Given the description of an element on the screen output the (x, y) to click on. 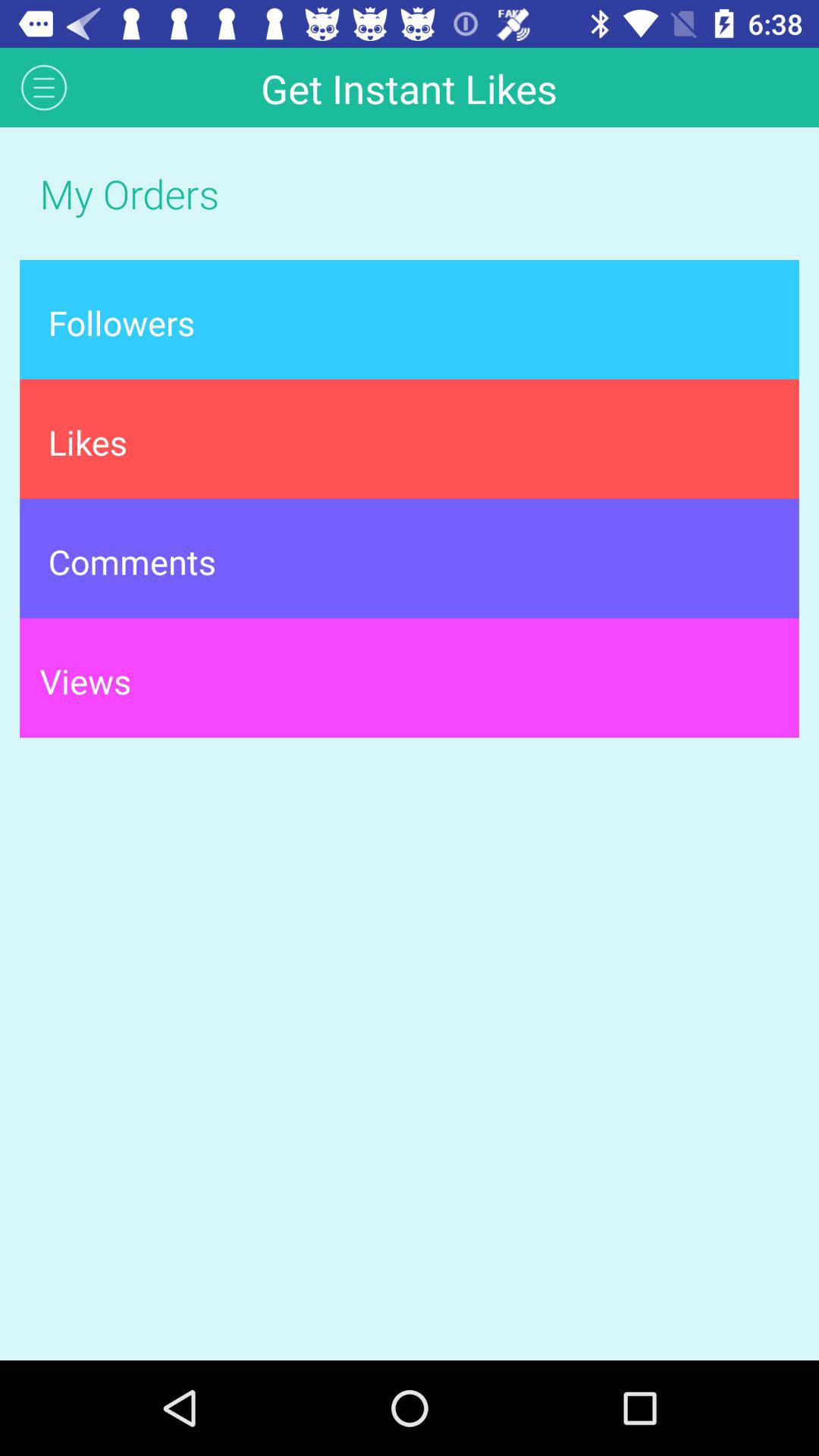
press the icon below the  comments icon (409, 677)
